Given the description of an element on the screen output the (x, y) to click on. 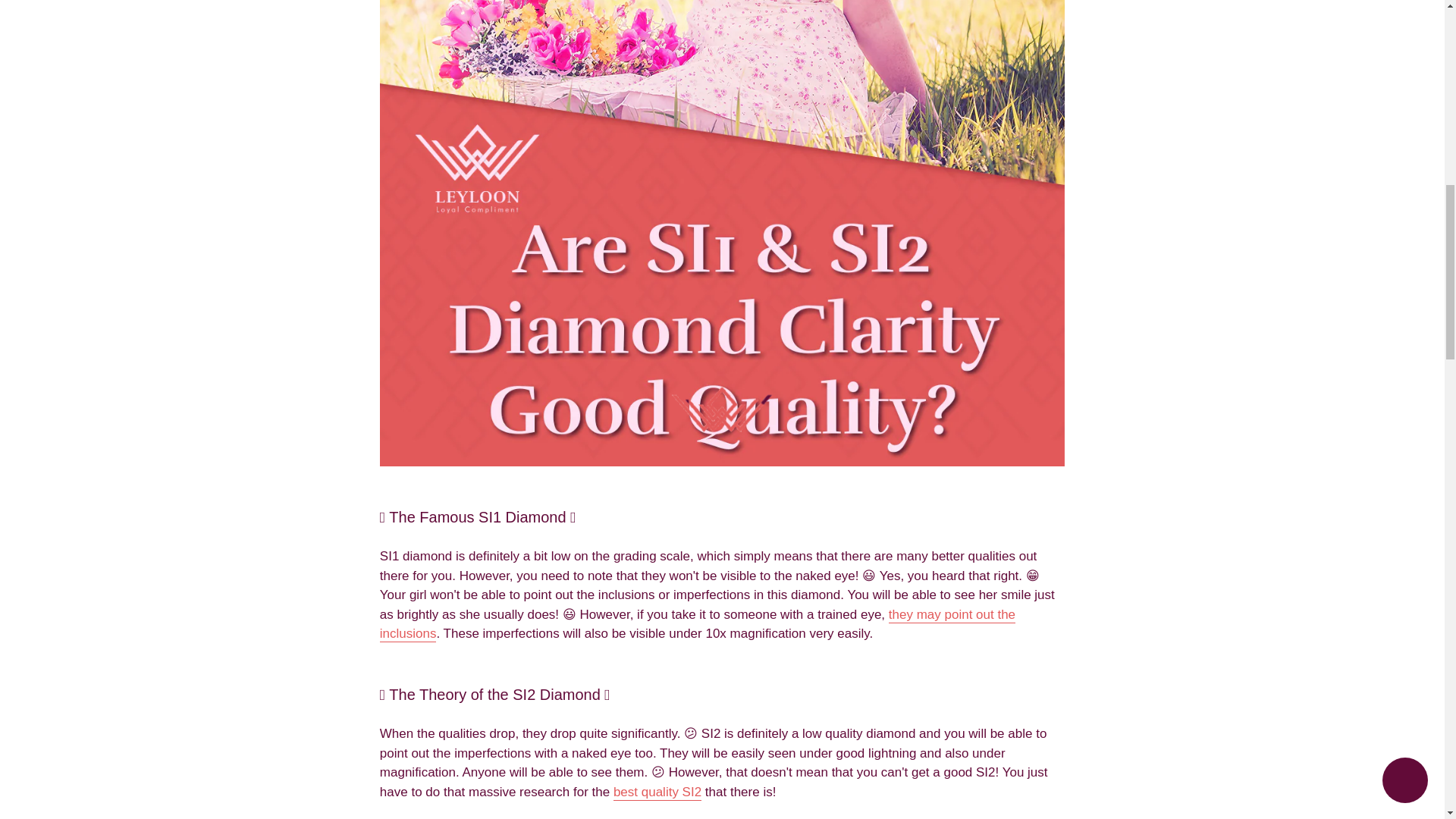
Types of Diamond Inclusions (697, 624)
SI2 Diamonds: Proceed with Caution (656, 792)
